Given the description of an element on the screen output the (x, y) to click on. 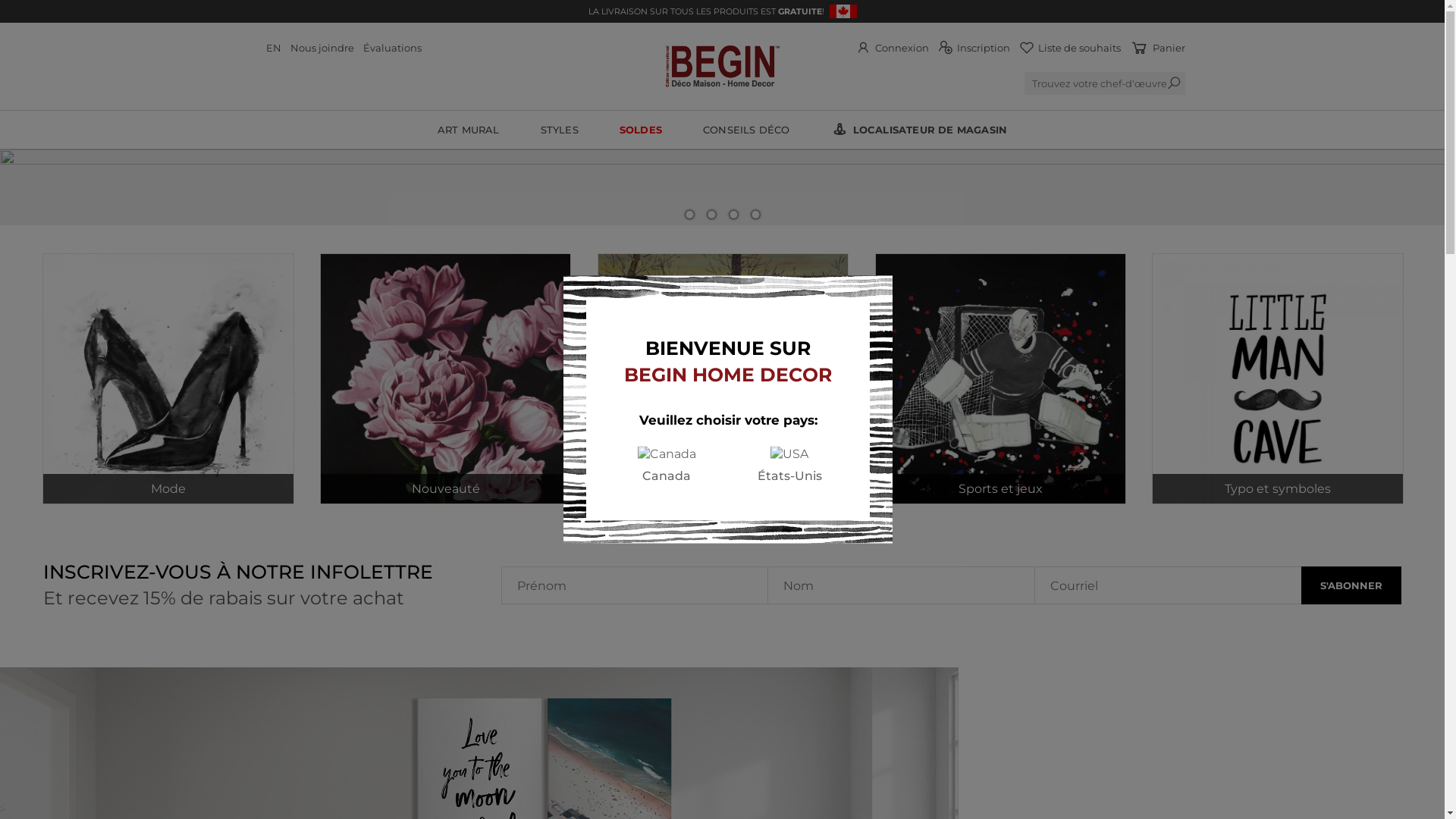
Mode Element type: text (167, 378)
Liste de souhaits Element type: text (1069, 46)
EN Element type: text (272, 46)
Canada Element type: text (666, 463)
Rechercher Element type: text (37, 8)
LOCALISATEUR DE MAGASIN Element type: text (919, 129)
S'ABONNER Element type: text (1351, 585)
STYLES Element type: text (559, 129)
Inscription Element type: text (973, 46)
Typo et symboles Element type: text (1276, 378)
ART MURAL Element type: text (468, 129)
SOLDES Element type: text (640, 129)
Nous joindre Element type: text (321, 46)
Panier Element type: text (1157, 46)
Sports et jeux Element type: text (1000, 378)
Connexion Element type: text (891, 46)
Saisons Element type: text (722, 378)
